Given the description of an element on the screen output the (x, y) to click on. 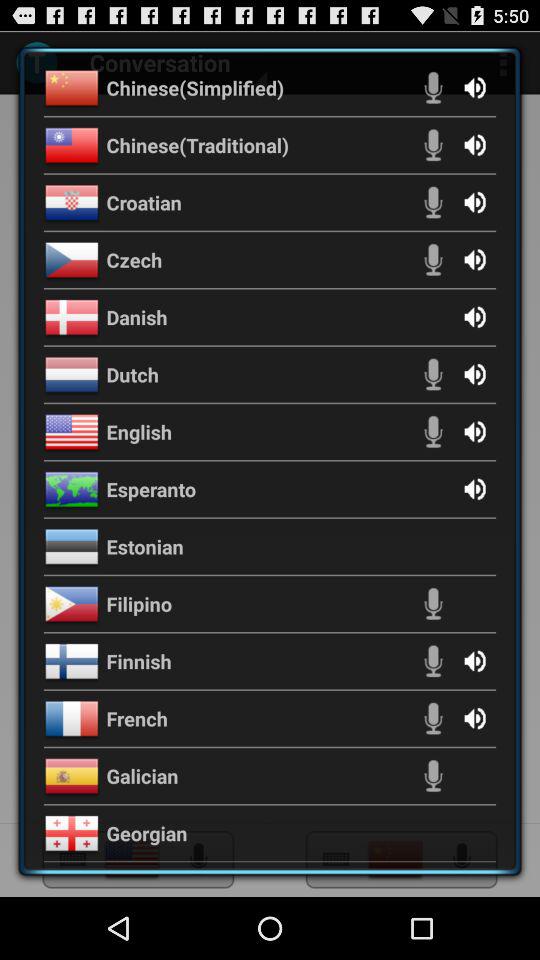
choose app below the french app (142, 775)
